Given the description of an element on the screen output the (x, y) to click on. 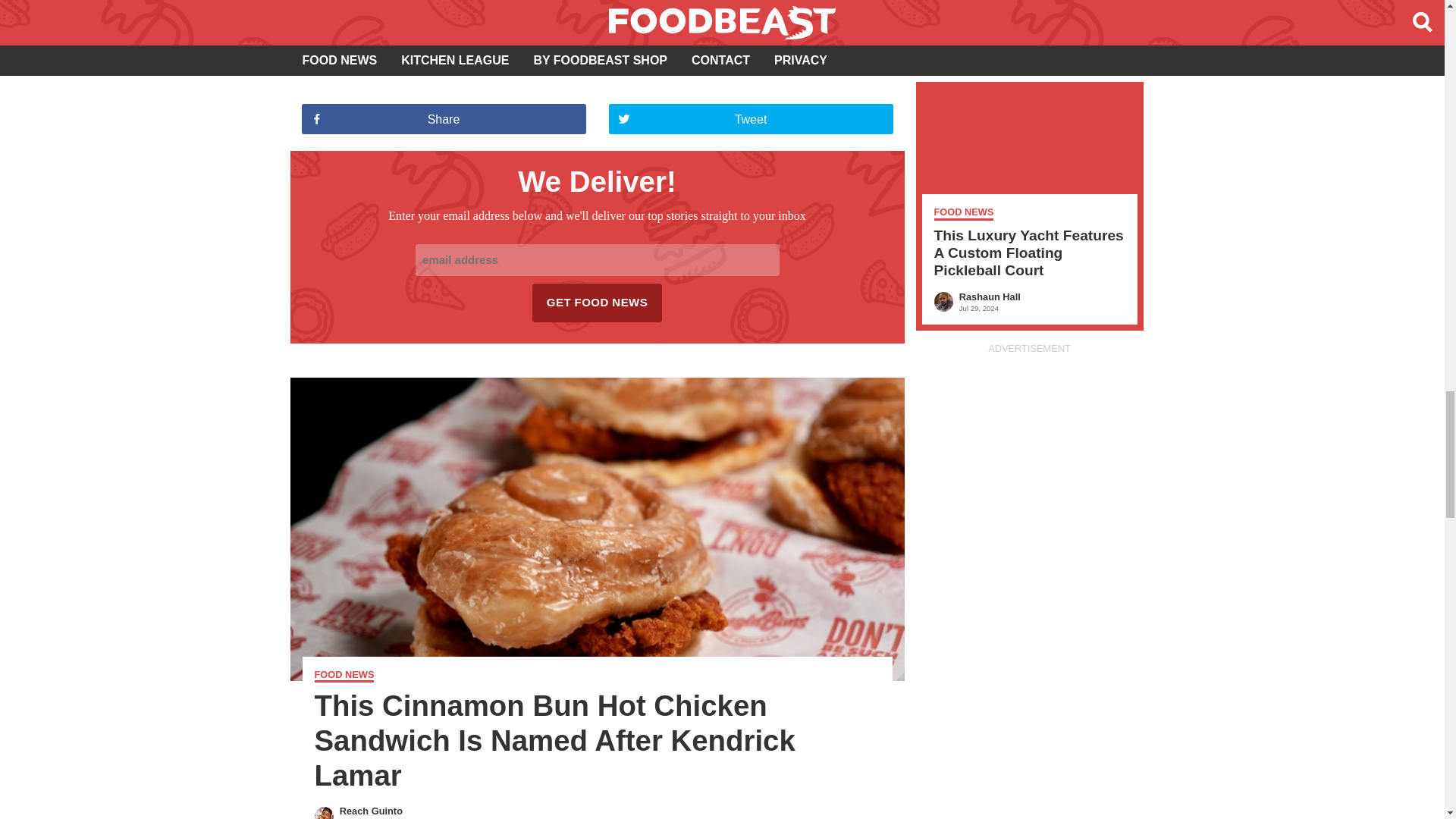
Tweet (750, 119)
GET FOOD NEWS (597, 302)
here (759, 59)
Share (443, 119)
GET FOOD NEWS (597, 302)
